Given the description of an element on the screen output the (x, y) to click on. 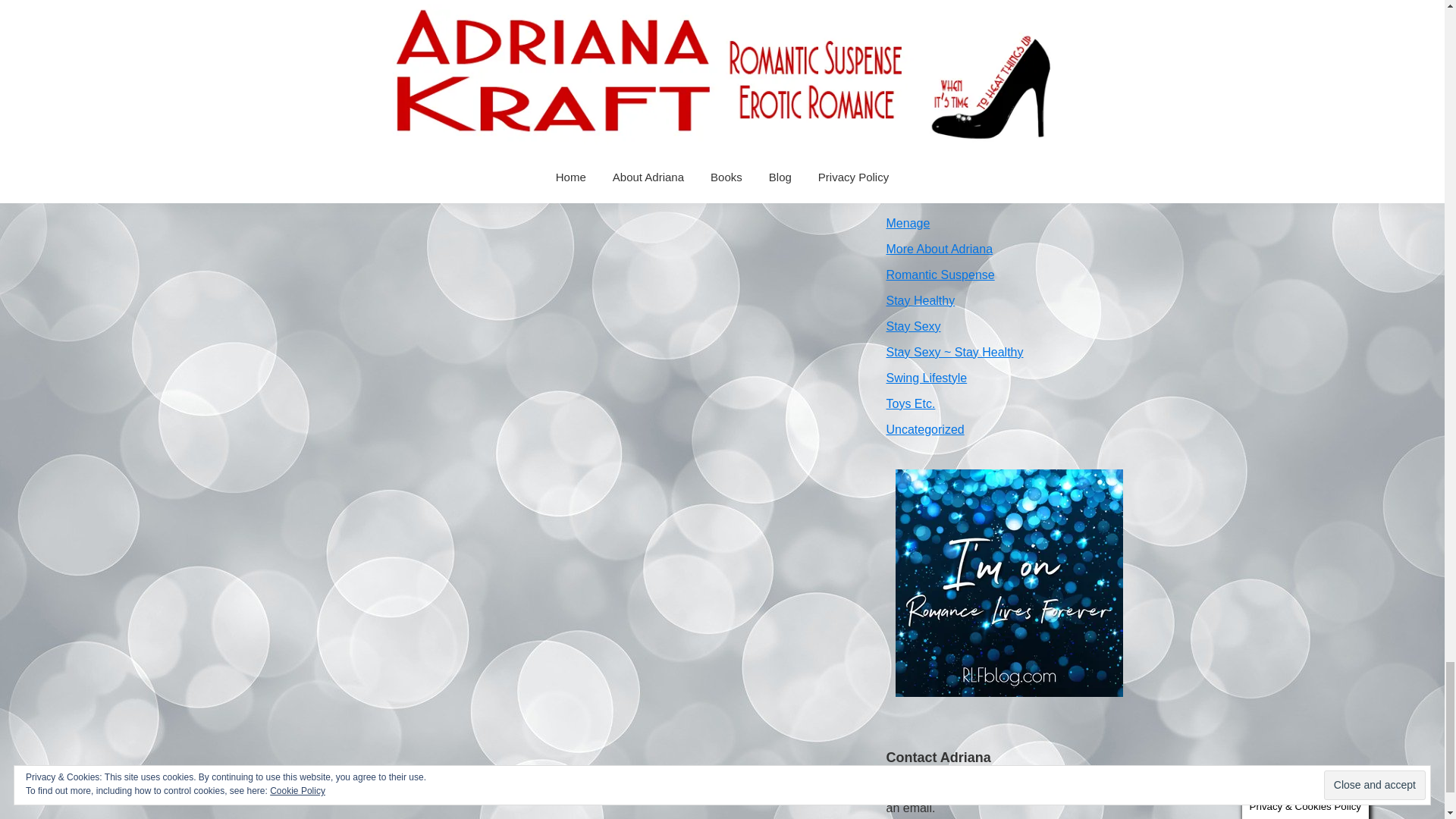
Find Books on Romance Lives Forever (1008, 582)
